Given the description of an element on the screen output the (x, y) to click on. 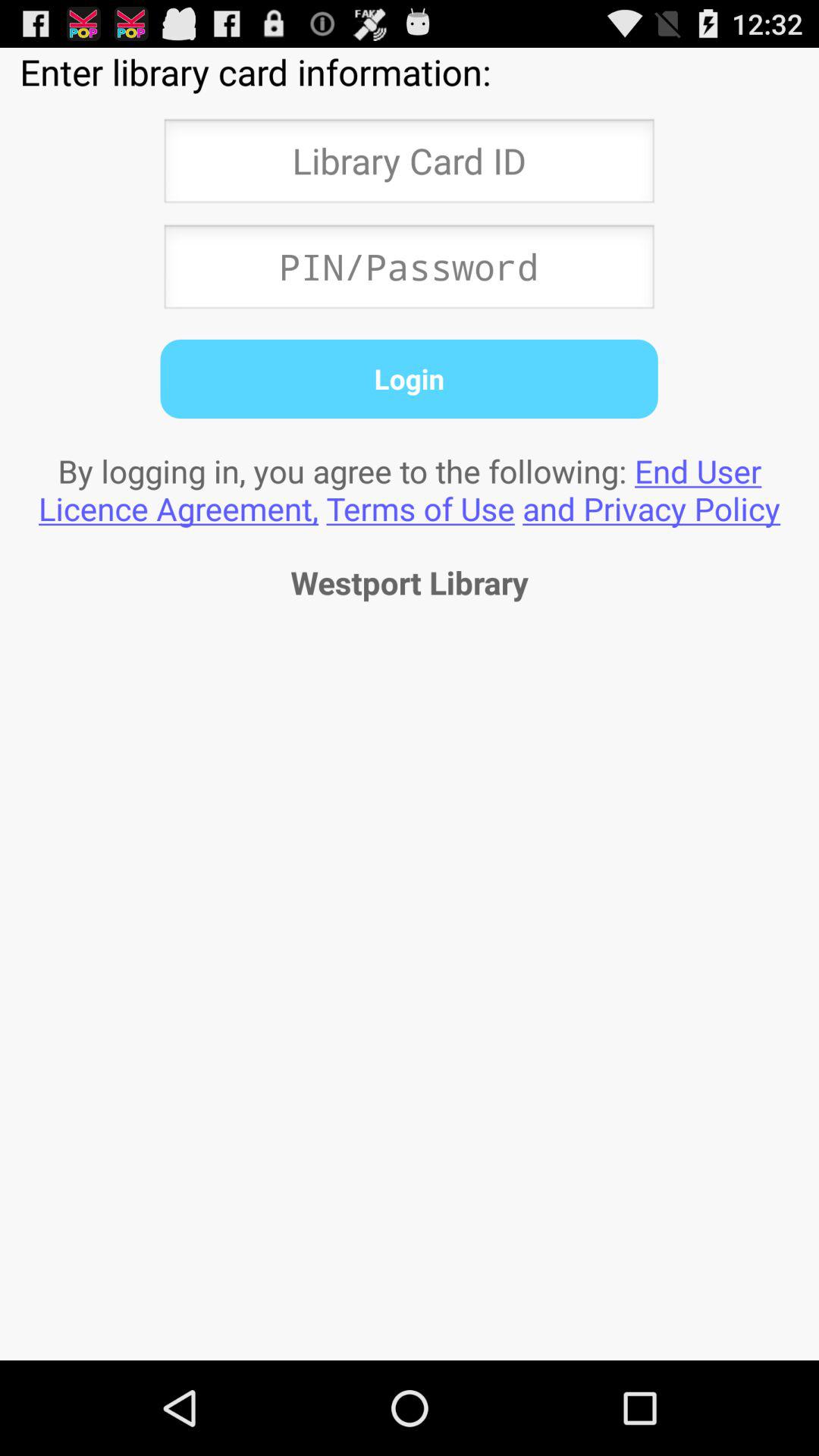
choose the item above by logging in item (409, 378)
